Given the description of an element on the screen output the (x, y) to click on. 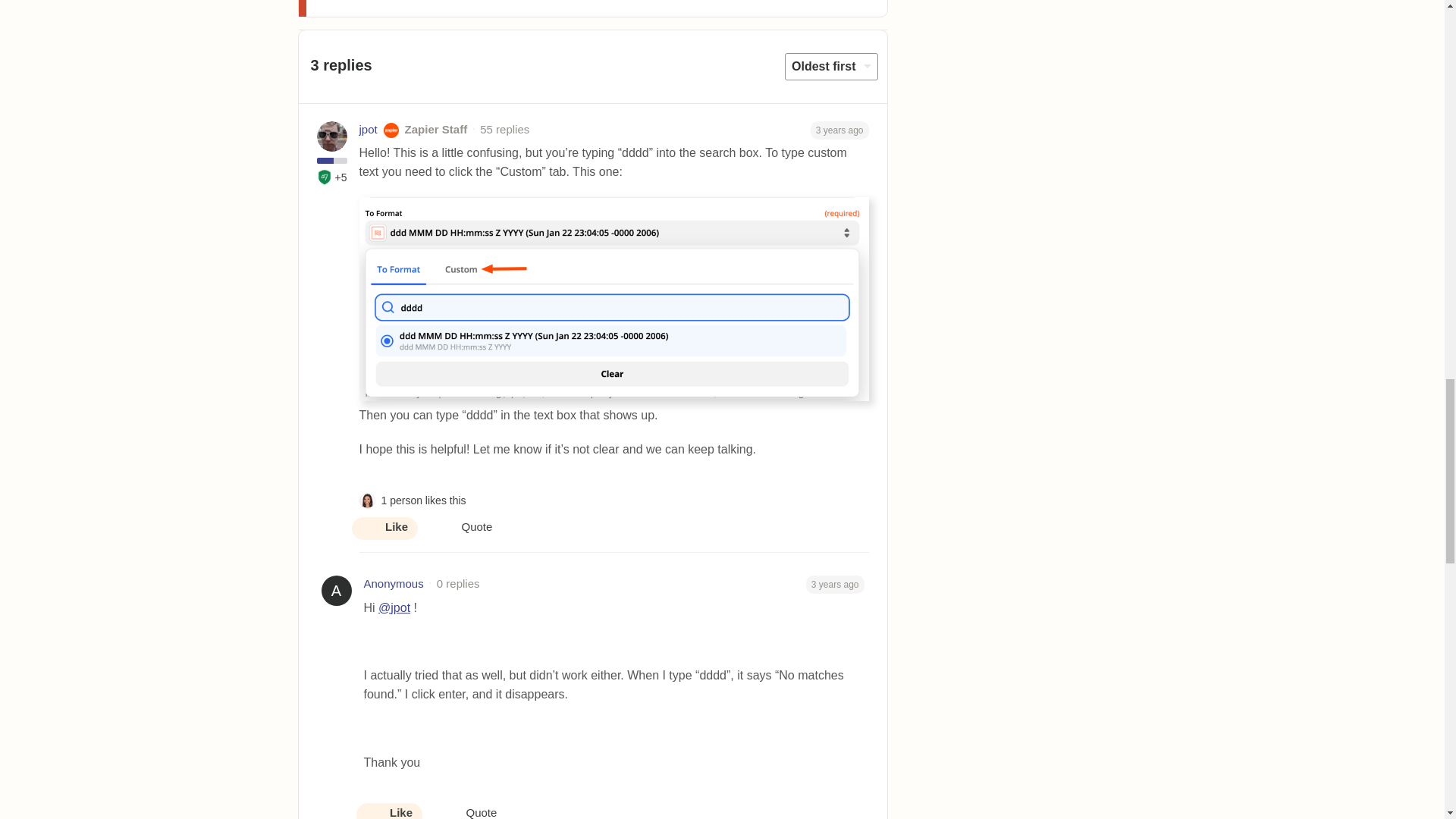
Anonymous (393, 583)
jpot (368, 129)
Helpful (324, 177)
